Given the description of an element on the screen output the (x, y) to click on. 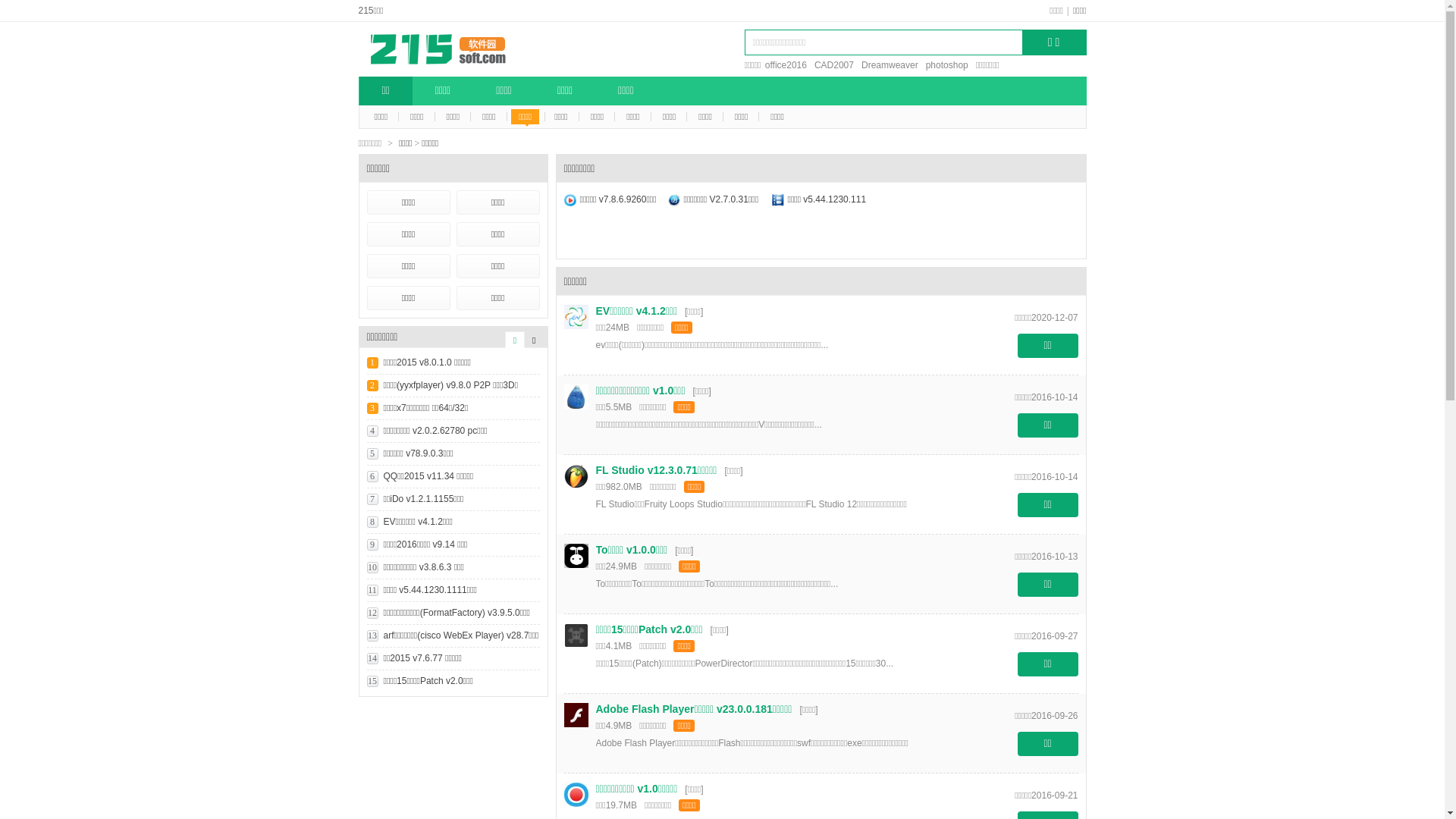
office2016 Element type: text (785, 64)
photoshop Element type: text (946, 64)
CAD2007 Element type: text (833, 64)
Dreamweaver Element type: text (889, 64)
